Given the description of an element on the screen output the (x, y) to click on. 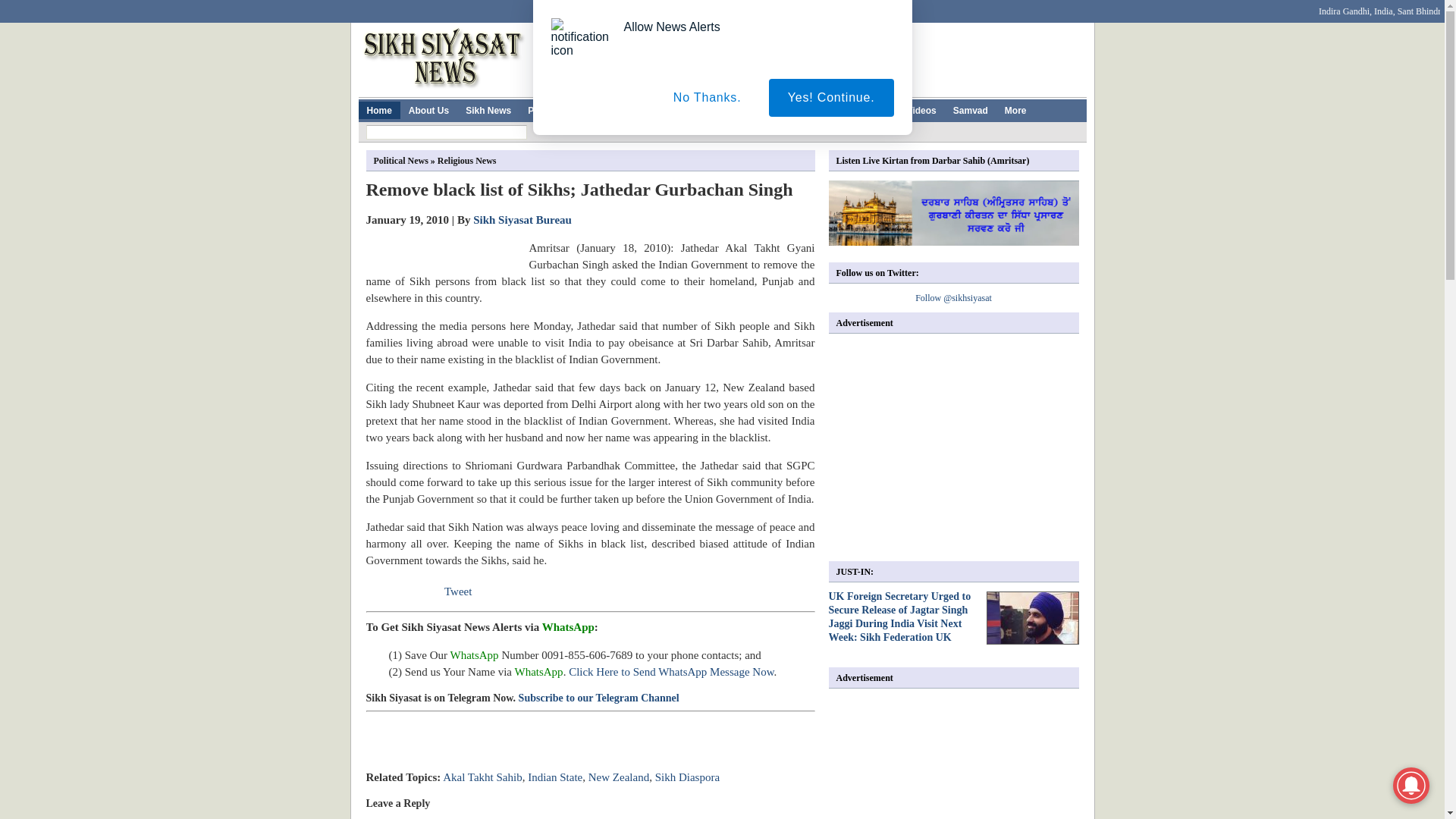
Punjab Politics (560, 109)
More News (815, 109)
Samvad (969, 109)
Advertisement (542, 751)
Advertisement (810, 56)
Home (378, 109)
Subscribe to our RSS feed (1046, 6)
Sikh Genocide 1984 (731, 109)
Sikh News (488, 109)
About Us (428, 109)
Facebook (471, 6)
Videos (921, 109)
Twitter (502, 6)
Opinion (872, 109)
Advertisement (955, 447)
